Given the description of an element on the screen output the (x, y) to click on. 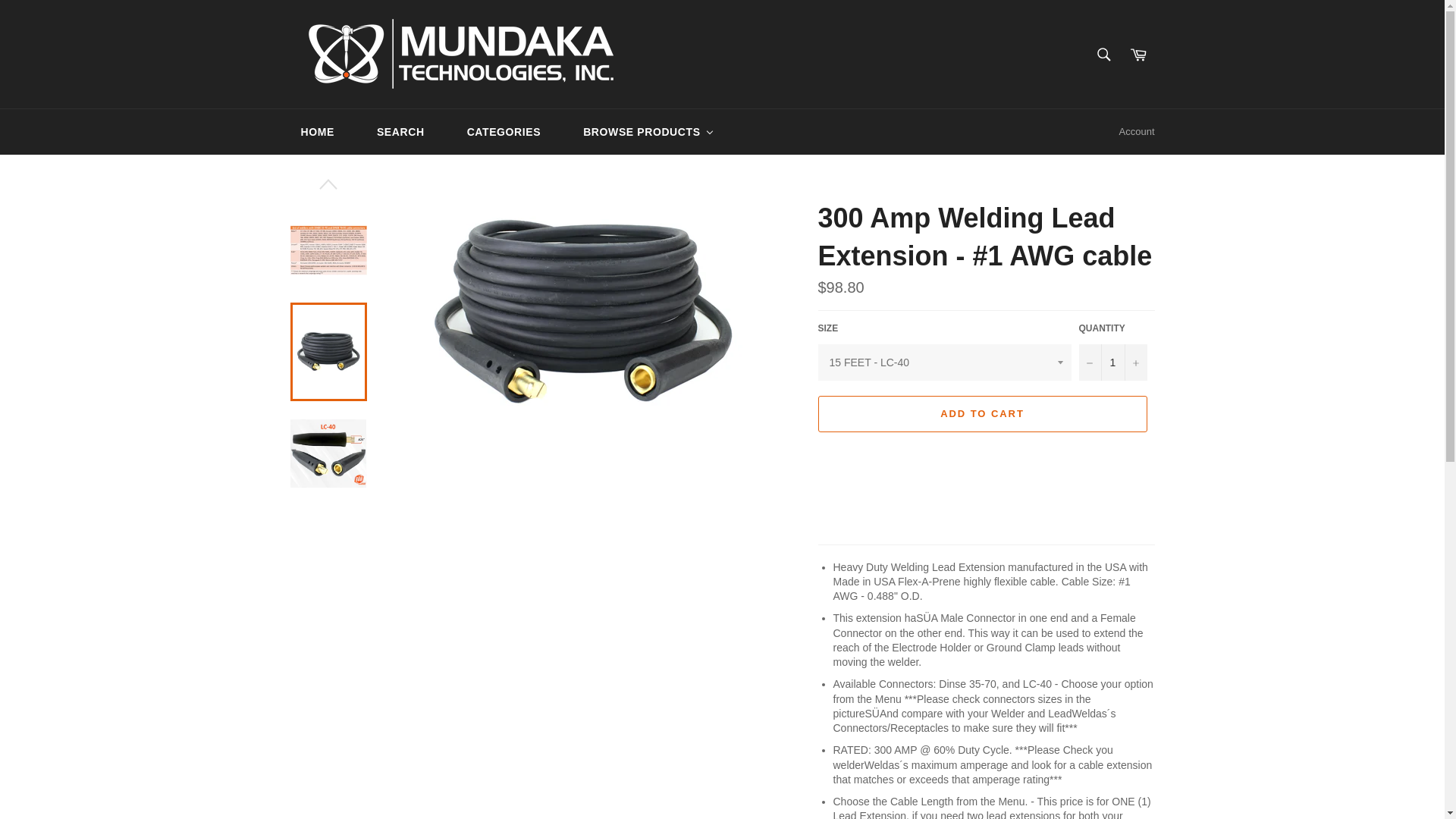
1 (1112, 361)
